Given the description of an element on the screen output the (x, y) to click on. 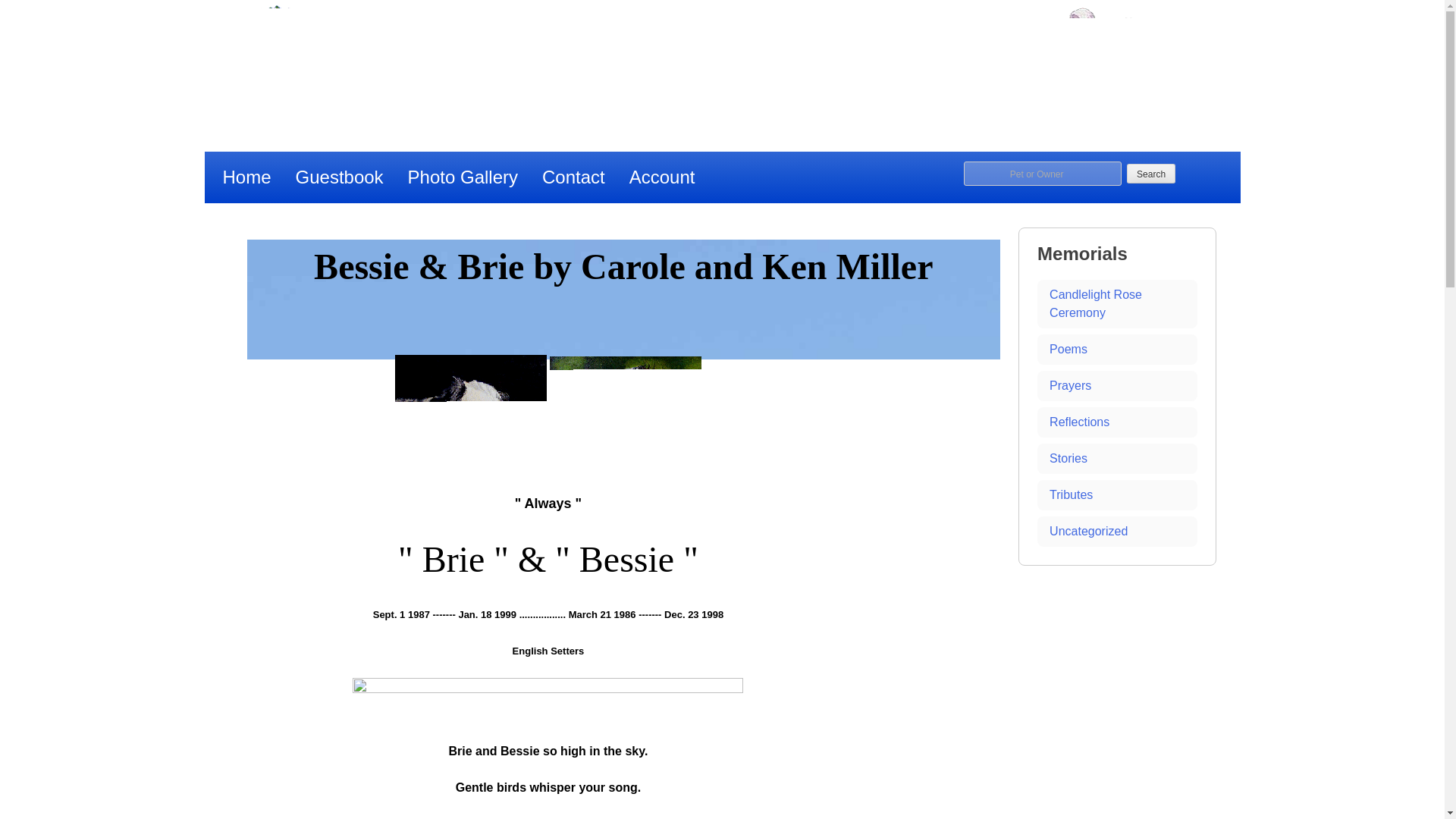
Candlelight Rose Ceremony (1116, 304)
Search (1150, 173)
Stories (1116, 458)
Photo Gallery (462, 177)
Prayers (1116, 386)
Uncategorized (1116, 531)
Poems (1116, 349)
Search (1150, 173)
Home (247, 177)
Reflections (1116, 422)
